Given the description of an element on the screen output the (x, y) to click on. 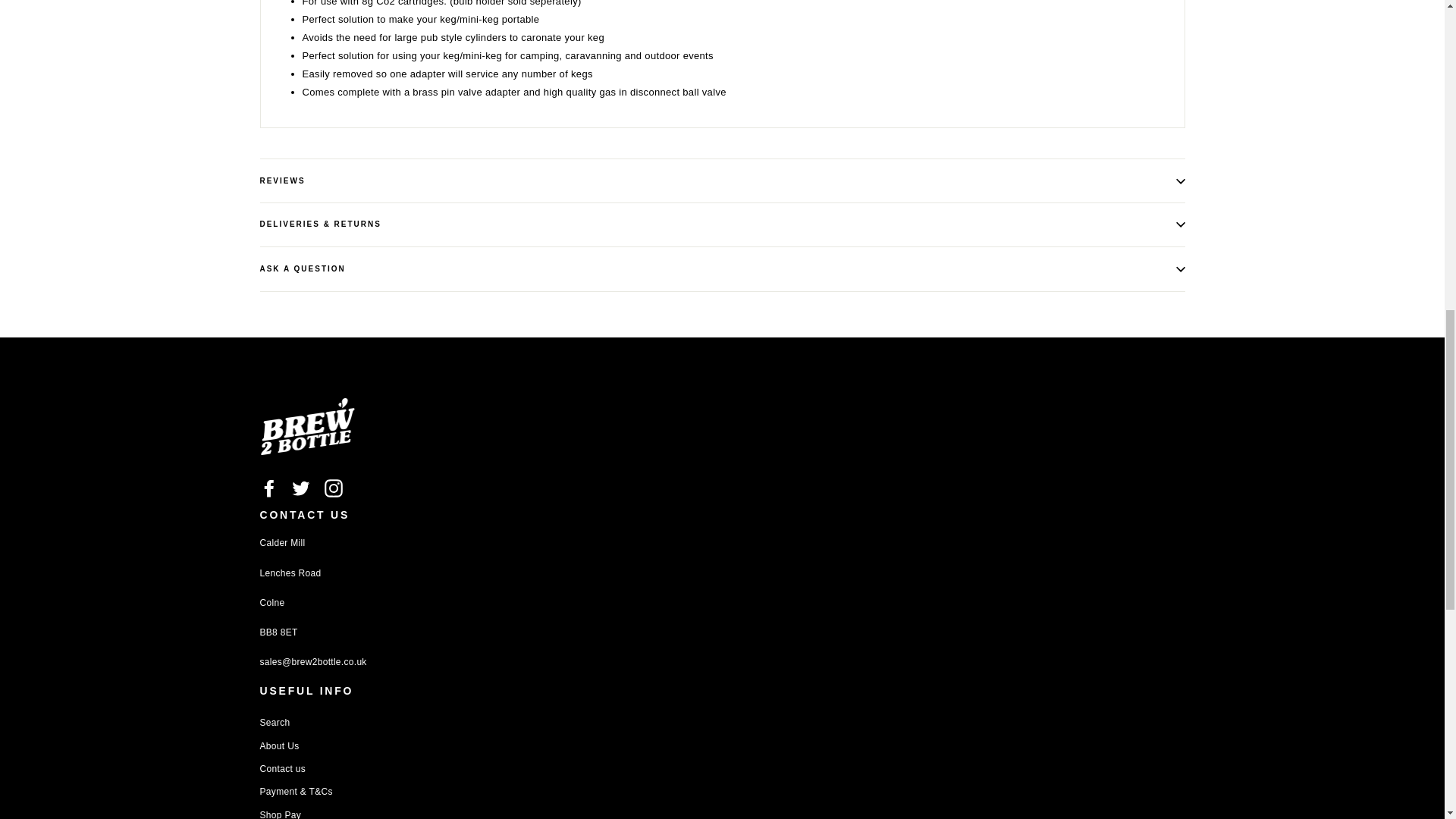
Brew2Bottle on Twitter (301, 488)
Brew2Bottle on Facebook (268, 488)
Brew2Bottle on Instagram (333, 488)
